Given the description of an element on the screen output the (x, y) to click on. 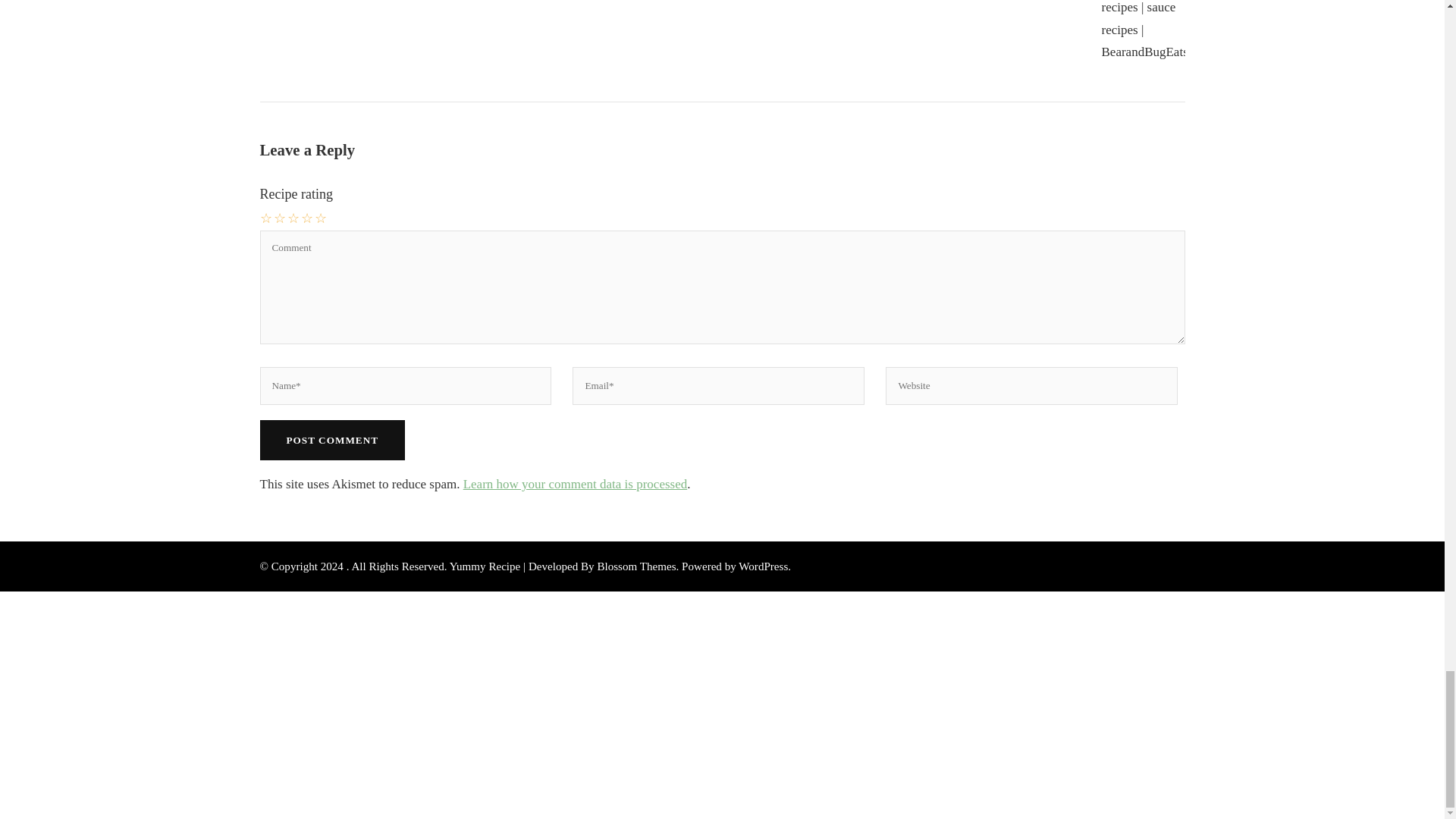
Post Comment (331, 440)
